Given the description of an element on the screen output the (x, y) to click on. 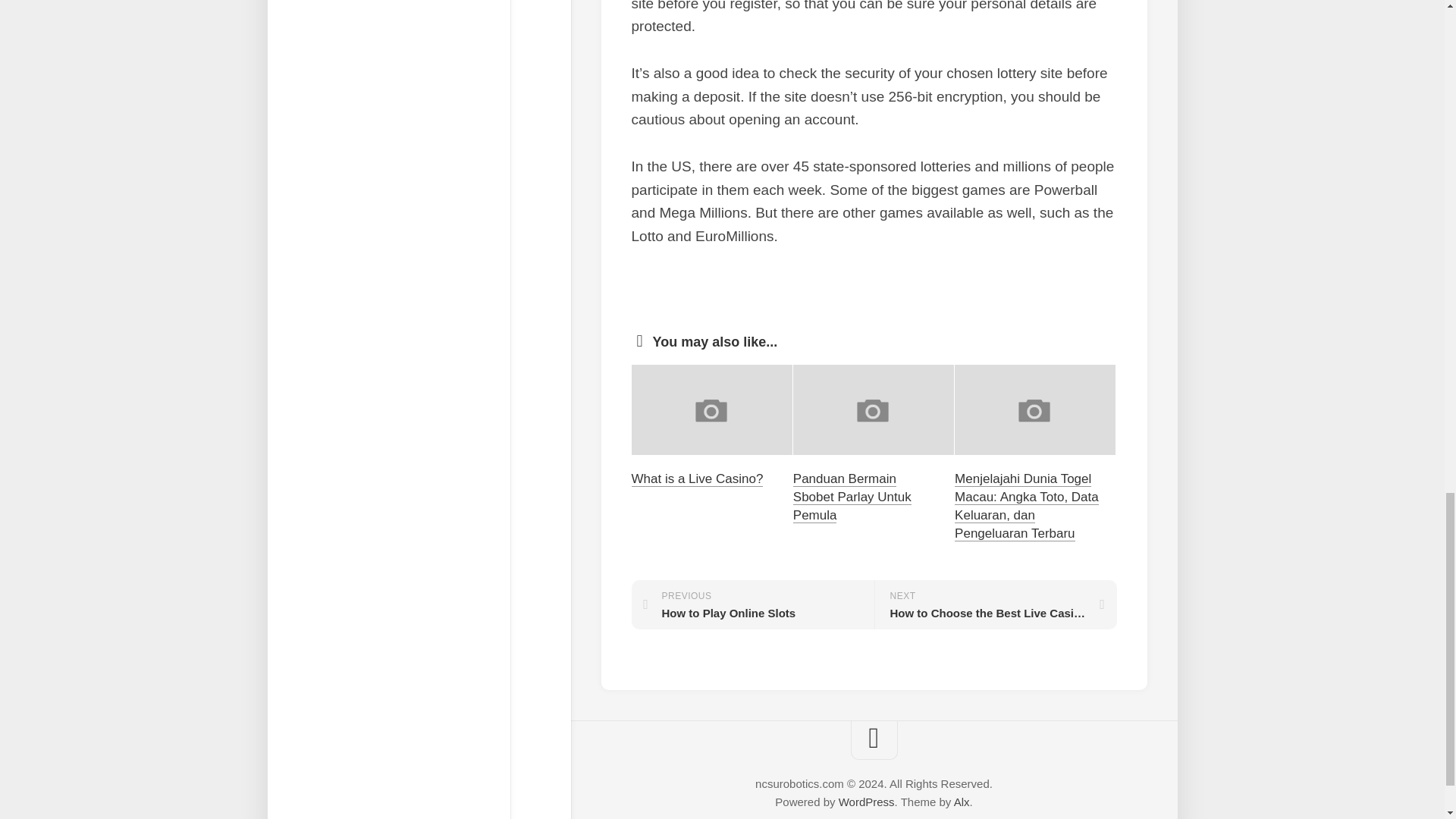
Alx (961, 801)
Panduan Bermain Sbobet Parlay Untuk Pemula (994, 604)
WordPress (852, 496)
What is a Live Casino? (866, 801)
